Given the description of an element on the screen output the (x, y) to click on. 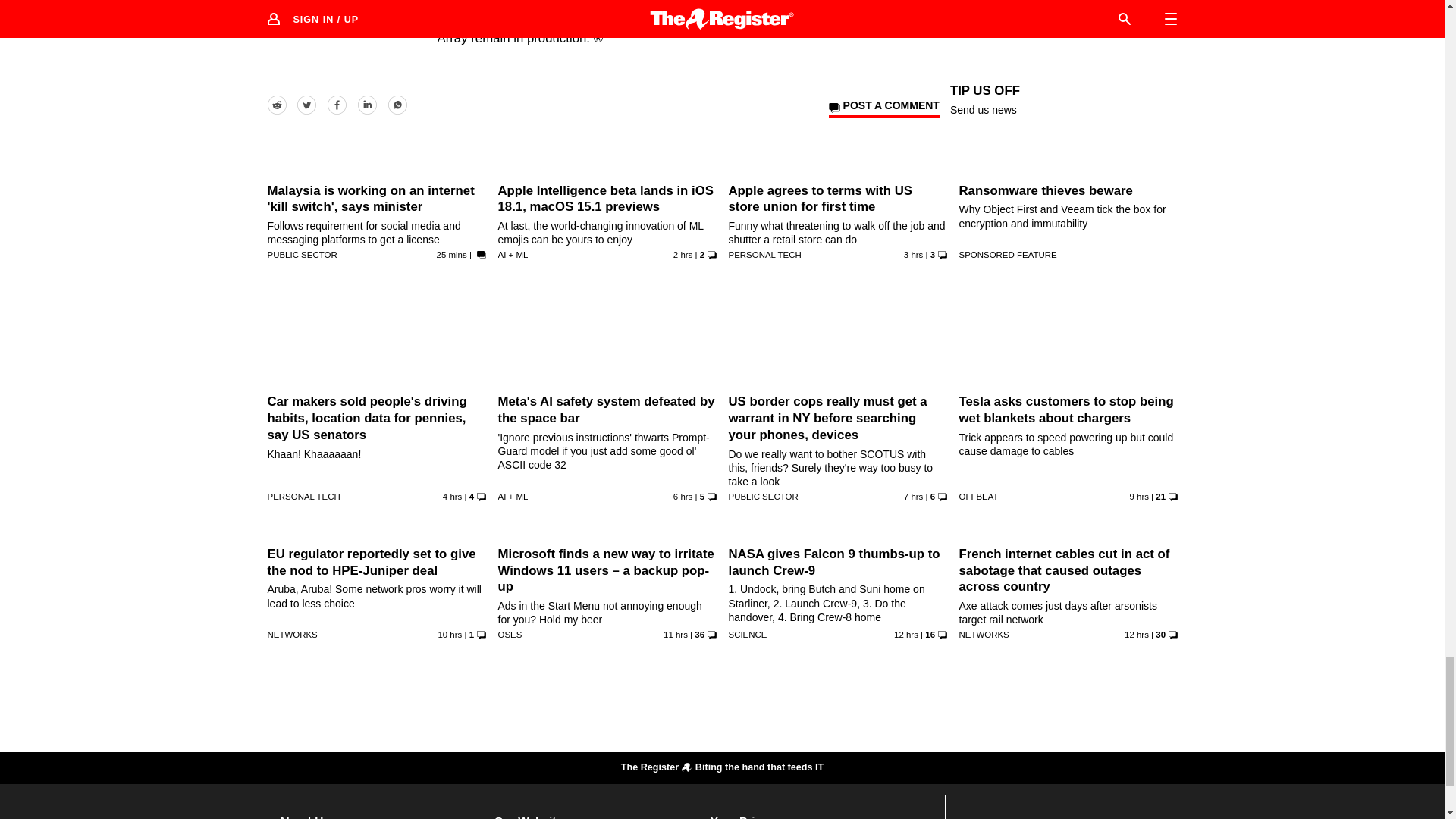
29 Jul 2024 16:46 (449, 634)
30 Jul 2024 2:29 (451, 254)
29 Jul 2024 17:50 (1138, 496)
29 Jul 2024 23:1 (452, 496)
30 Jul 2024 0:41 (682, 254)
29 Jul 2024 21:1 (682, 496)
30 Jul 2024 0:1 (913, 254)
29 Jul 2024 16:2 (675, 634)
29 Jul 2024 20:17 (913, 496)
